Given the description of an element on the screen output the (x, y) to click on. 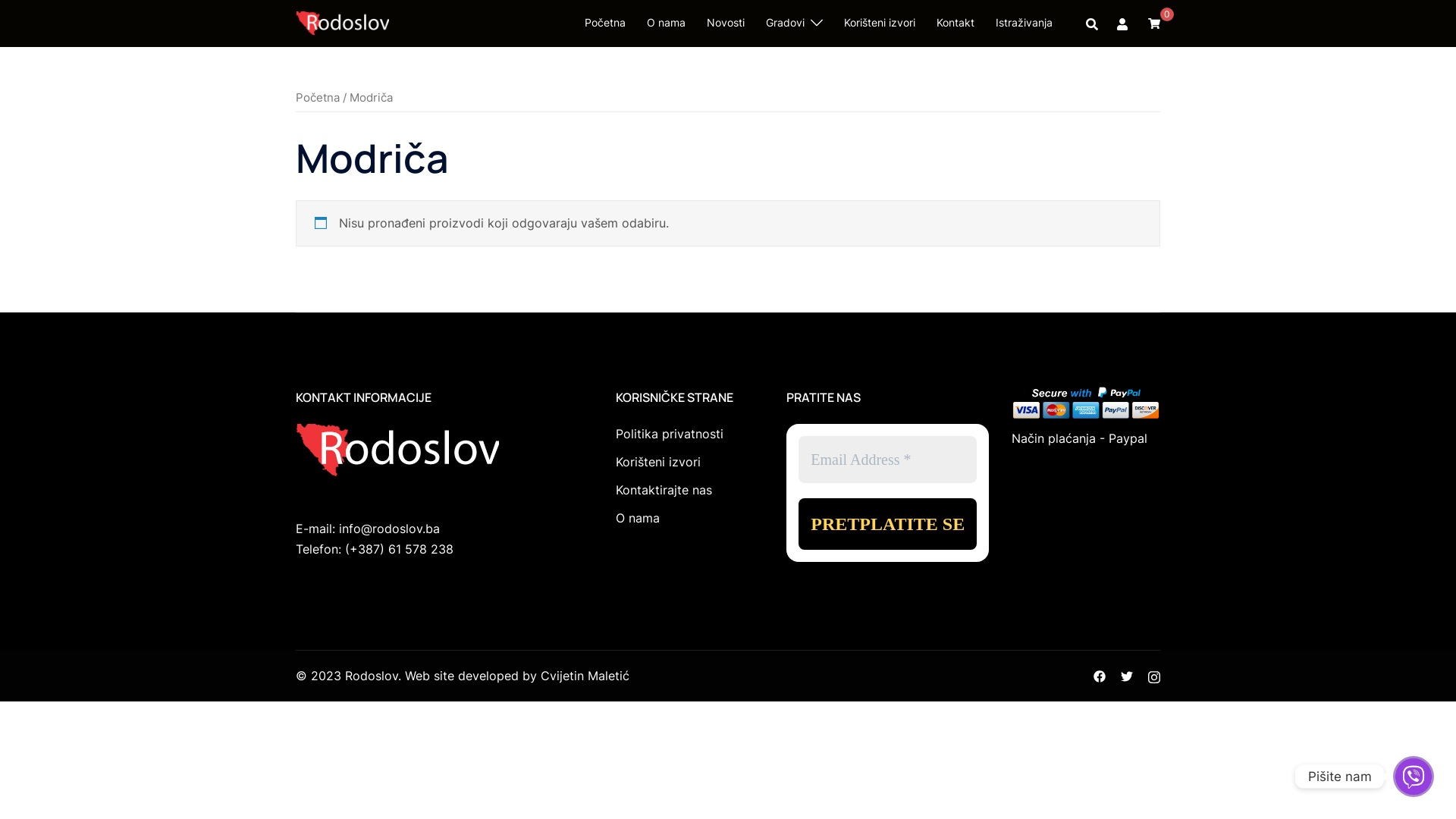
Kontaktirajte nas Element type: text (663, 489)
0 Element type: text (1154, 22)
+387) 61 578 238 Element type: text (401, 548)
Kontakt Element type: text (955, 22)
Your account Element type: hover (1123, 23)
Pretplatite se Element type: text (887, 523)
Rodoslov Element type: hover (342, 21)
Email Address Element type: hover (887, 459)
O nama Element type: text (637, 517)
info@rodoslov.ba Element type: text (388, 528)
Gradovi Element type: text (784, 22)
Novosti Element type: text (725, 22)
O nama Element type: text (665, 22)
Politika privatnosti Element type: text (669, 433)
